Given the description of an element on the screen output the (x, y) to click on. 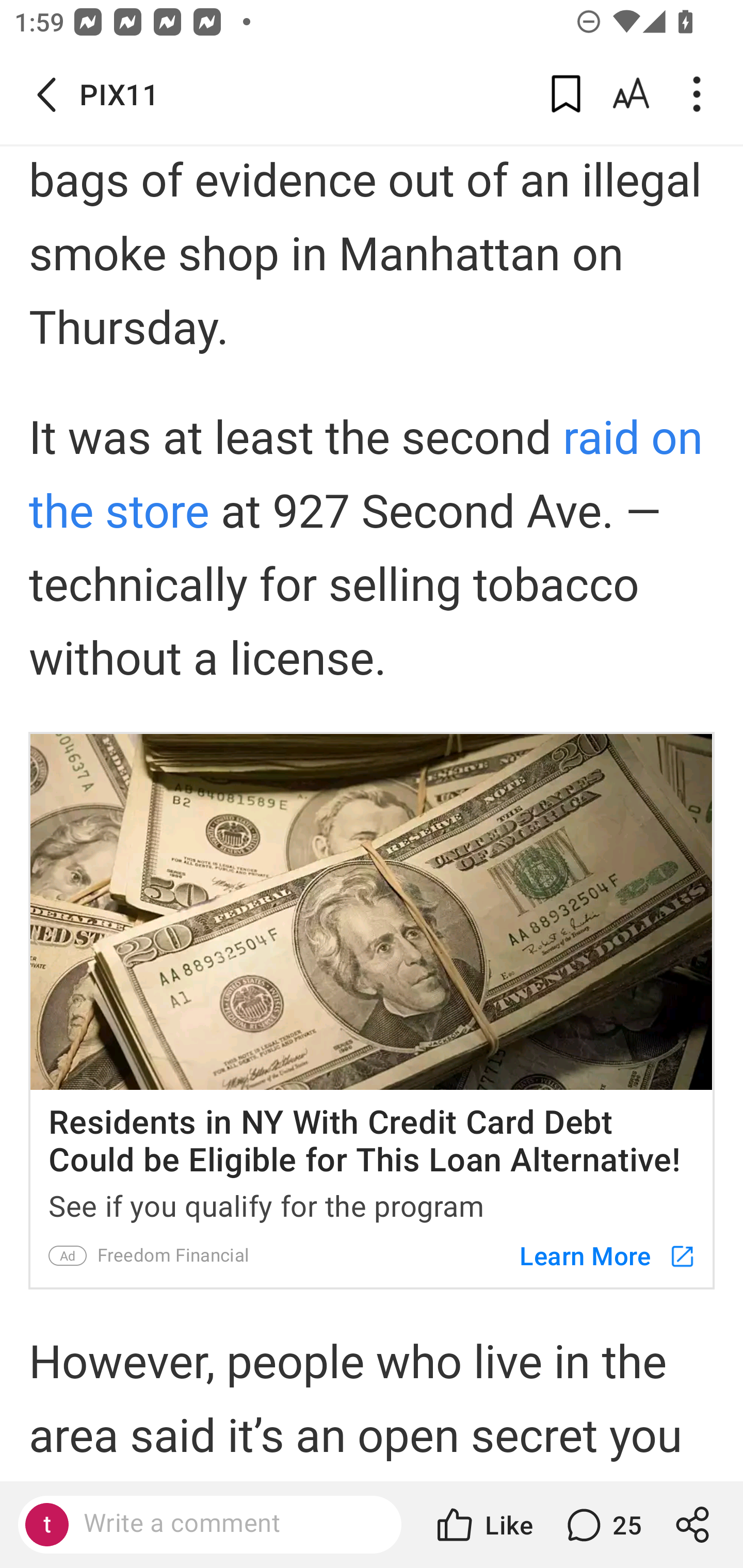
raid on the store  (366, 475)
See if you qualify for the program (371, 1202)
Learn More (597, 1255)
Freedom Financial (173, 1255)
Like (483, 1524)
25 (601, 1524)
Write a comment (226, 1523)
